Given the description of an element on the screen output the (x, y) to click on. 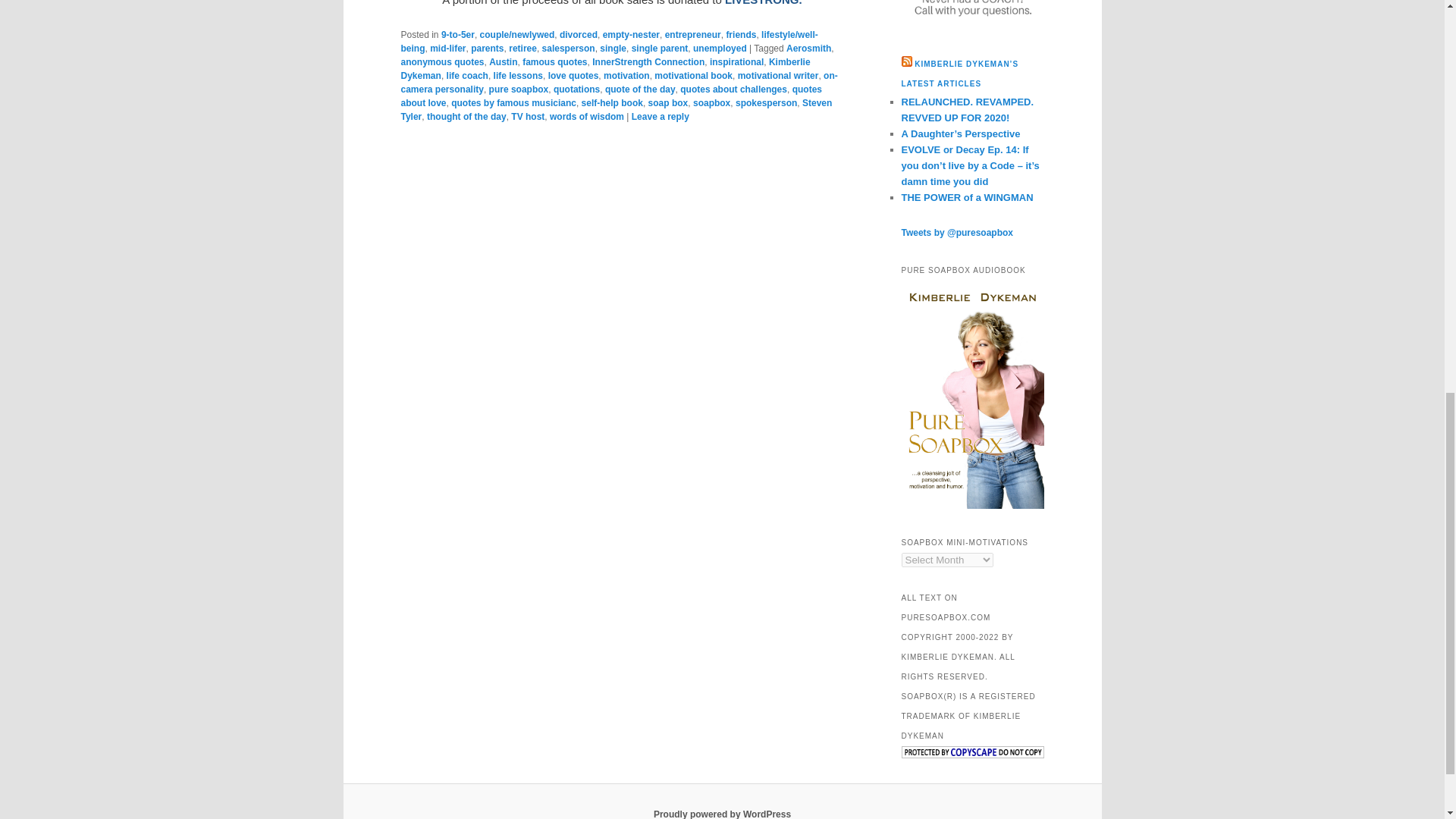
single parent (659, 48)
Aerosmith (808, 48)
inspirational (736, 61)
9-to-5er (457, 34)
salesperson (568, 48)
friends (740, 34)
life coach (466, 75)
Kimberlie Dykeman (604, 68)
love quotes (573, 75)
divorced (577, 34)
single (612, 48)
parents (486, 48)
retiree (522, 48)
unemployed (719, 48)
